Given the description of an element on the screen output the (x, y) to click on. 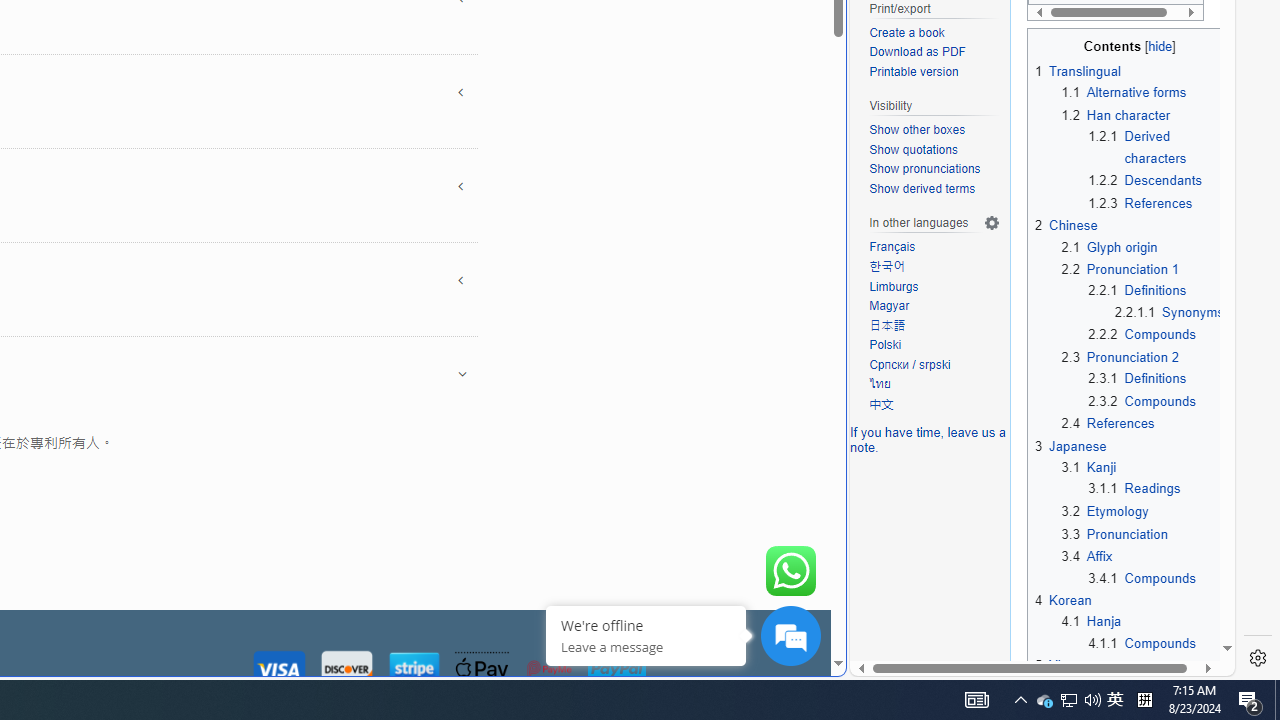
2.3 Pronunciation 2 (1120, 357)
1.2.3 References (1140, 202)
If you have time, leave us a note. (927, 439)
2.2.1.1Synonyms (1168, 311)
3.1.1Readings (1156, 488)
1.2.2Descendants (1156, 180)
Create a book (934, 33)
3.1 Kanji (1089, 467)
Show quotations (913, 148)
4.1.1 Compounds (1142, 642)
Magyar (934, 306)
